Given the description of an element on the screen output the (x, y) to click on. 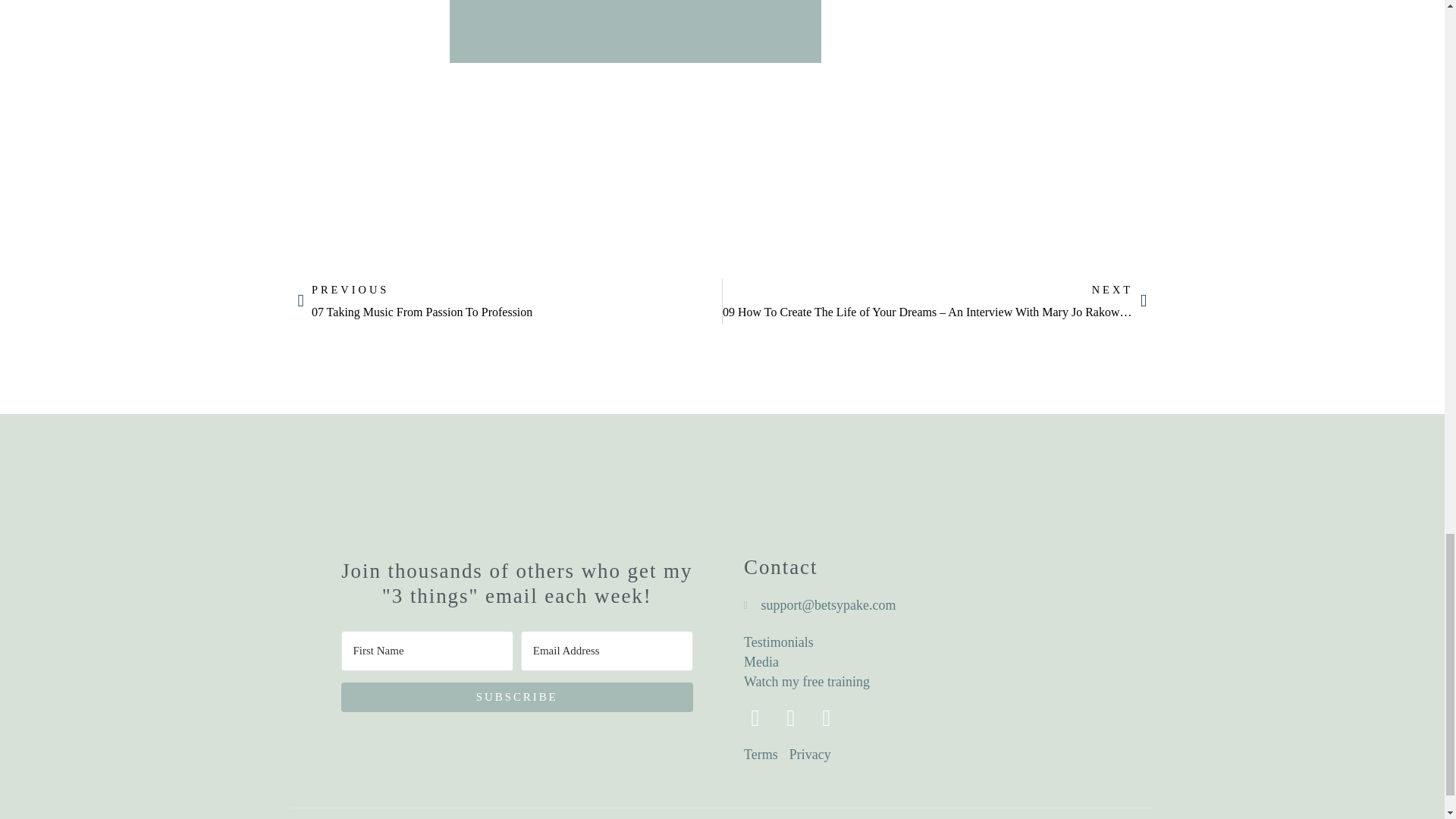
Terms (760, 754)
SUBSCRIBE (517, 696)
Testimonials (938, 641)
Youtube (509, 301)
Instagram (790, 717)
Media (826, 717)
Watch my free training (938, 661)
Facebook (938, 681)
Privacy (755, 717)
